Given the description of an element on the screen output the (x, y) to click on. 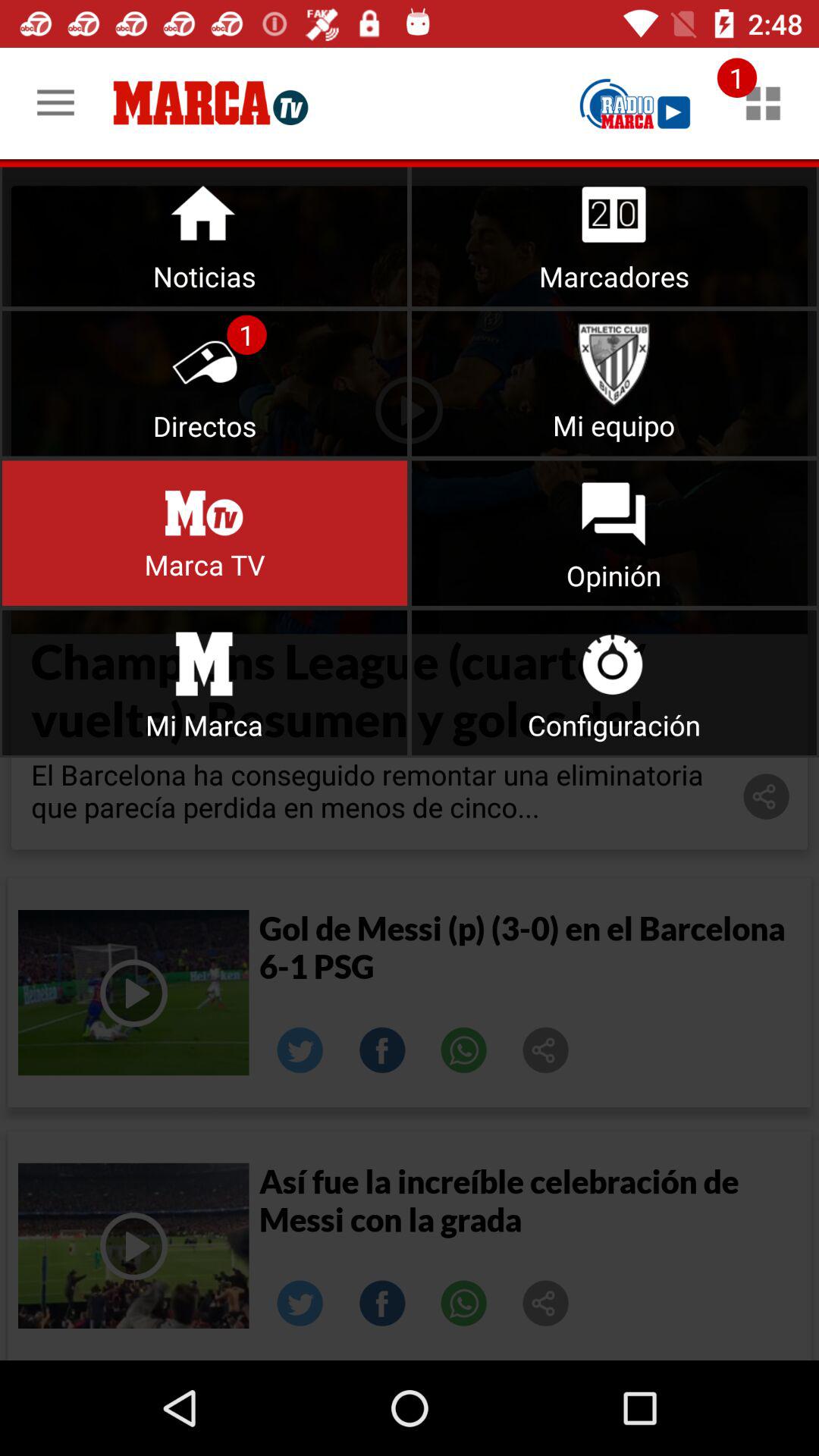
click on the notification option (763, 103)
